Given the description of an element on the screen output the (x, y) to click on. 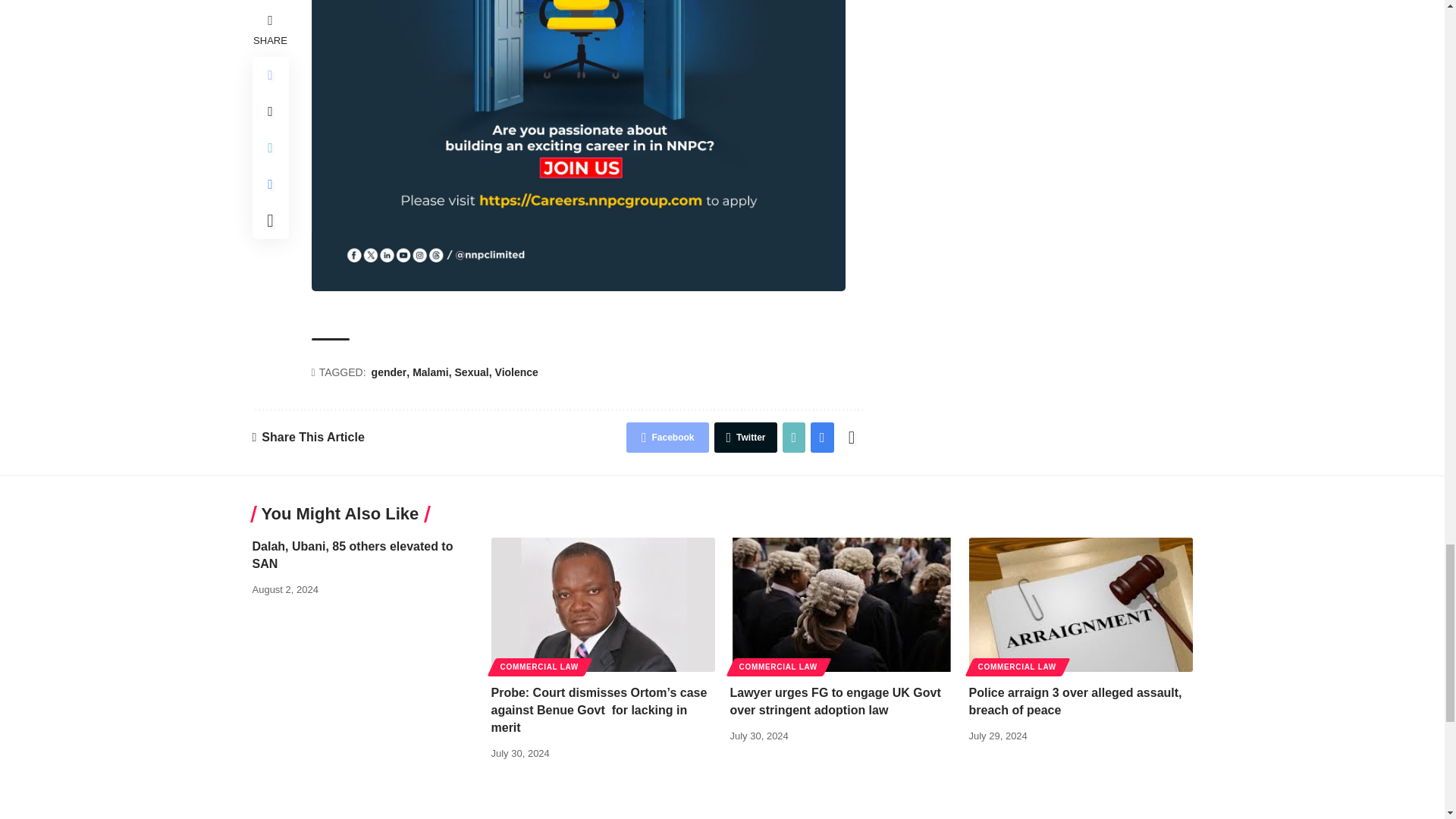
Malami (431, 372)
Sexual (473, 372)
Violence (516, 372)
Police arraign 3 over alleged assault, breach of peace (1080, 604)
Facebook (668, 437)
Twitter (745, 437)
gender (390, 372)
